Given the description of an element on the screen output the (x, y) to click on. 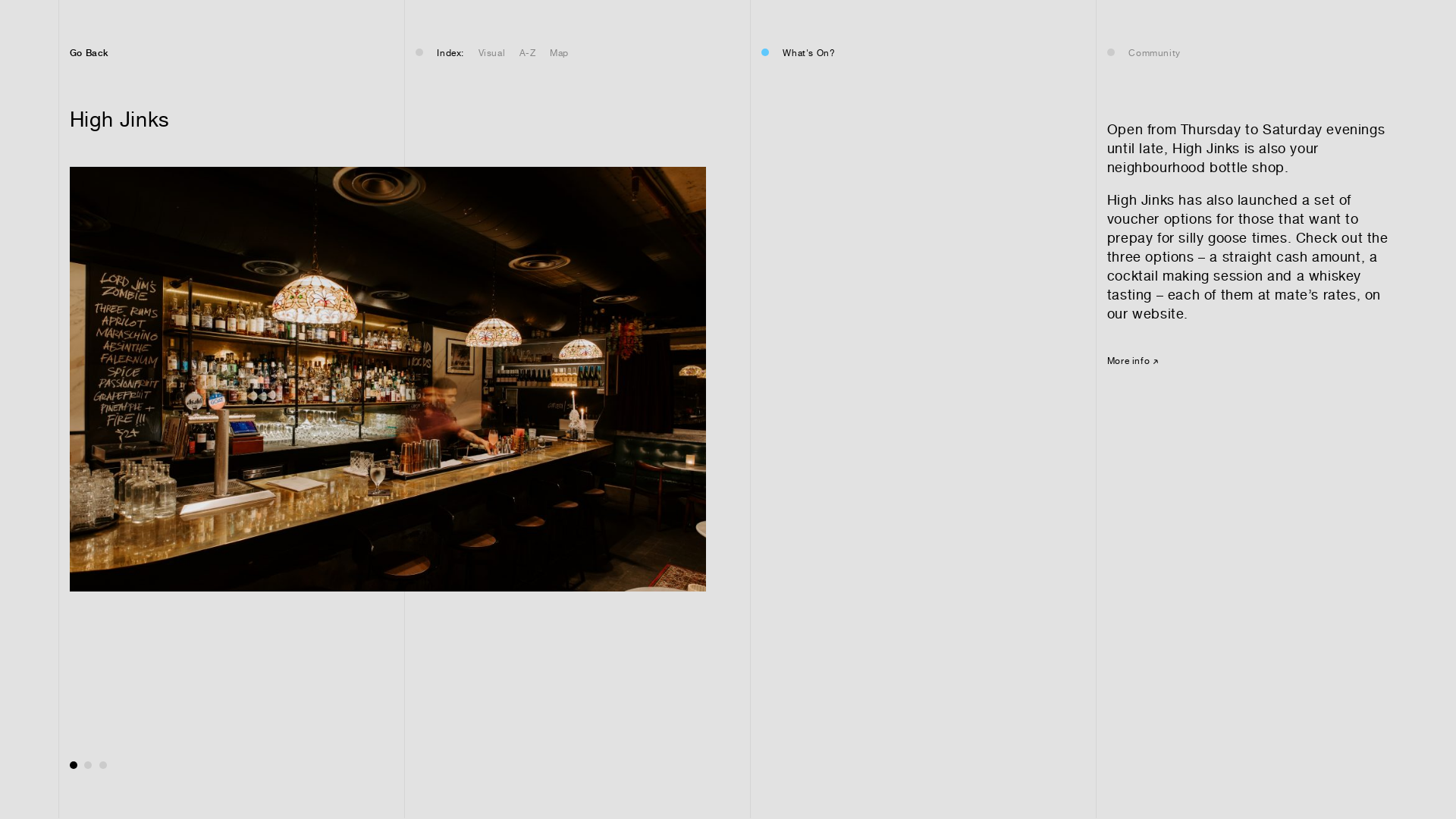
Map Element type: text (558, 52)
Community Element type: text (1153, 52)
More info Element type: text (1133, 360)
A-Z Element type: text (527, 52)
Visual Element type: text (491, 52)
What's On? Element type: text (808, 52)
